Given the description of an element on the screen output the (x, y) to click on. 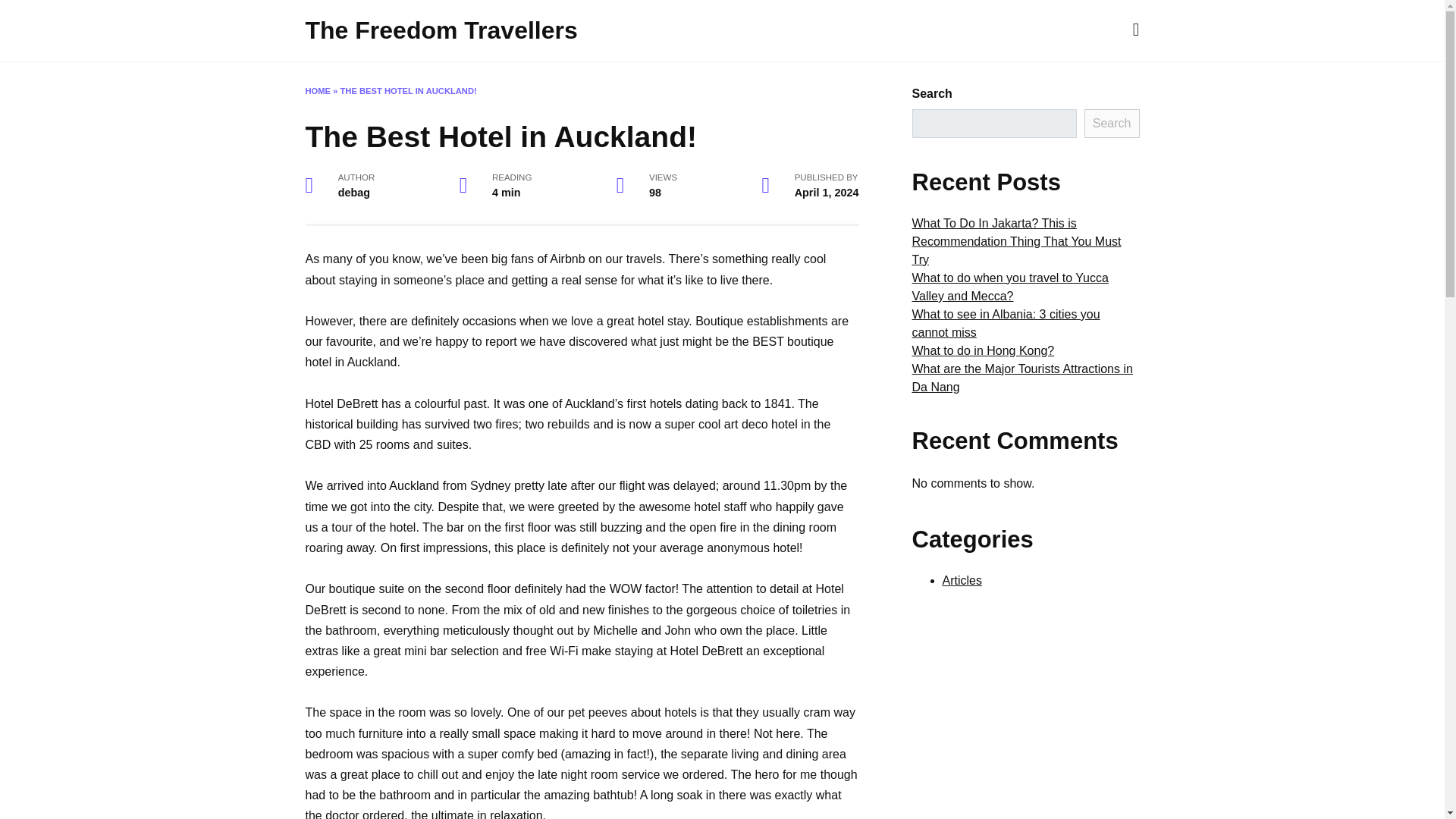
The Freedom Travellers (440, 30)
What to see in Albania: 3 cities you cannot miss (1005, 323)
Articles (961, 580)
What to do when you travel to Yucca Valley and Mecca? (1009, 286)
Search (1112, 123)
What are the Major Tourists Attractions in Da Nang (1021, 377)
What to do in Hong Kong? (982, 350)
HOME (317, 90)
